Given the description of an element on the screen output the (x, y) to click on. 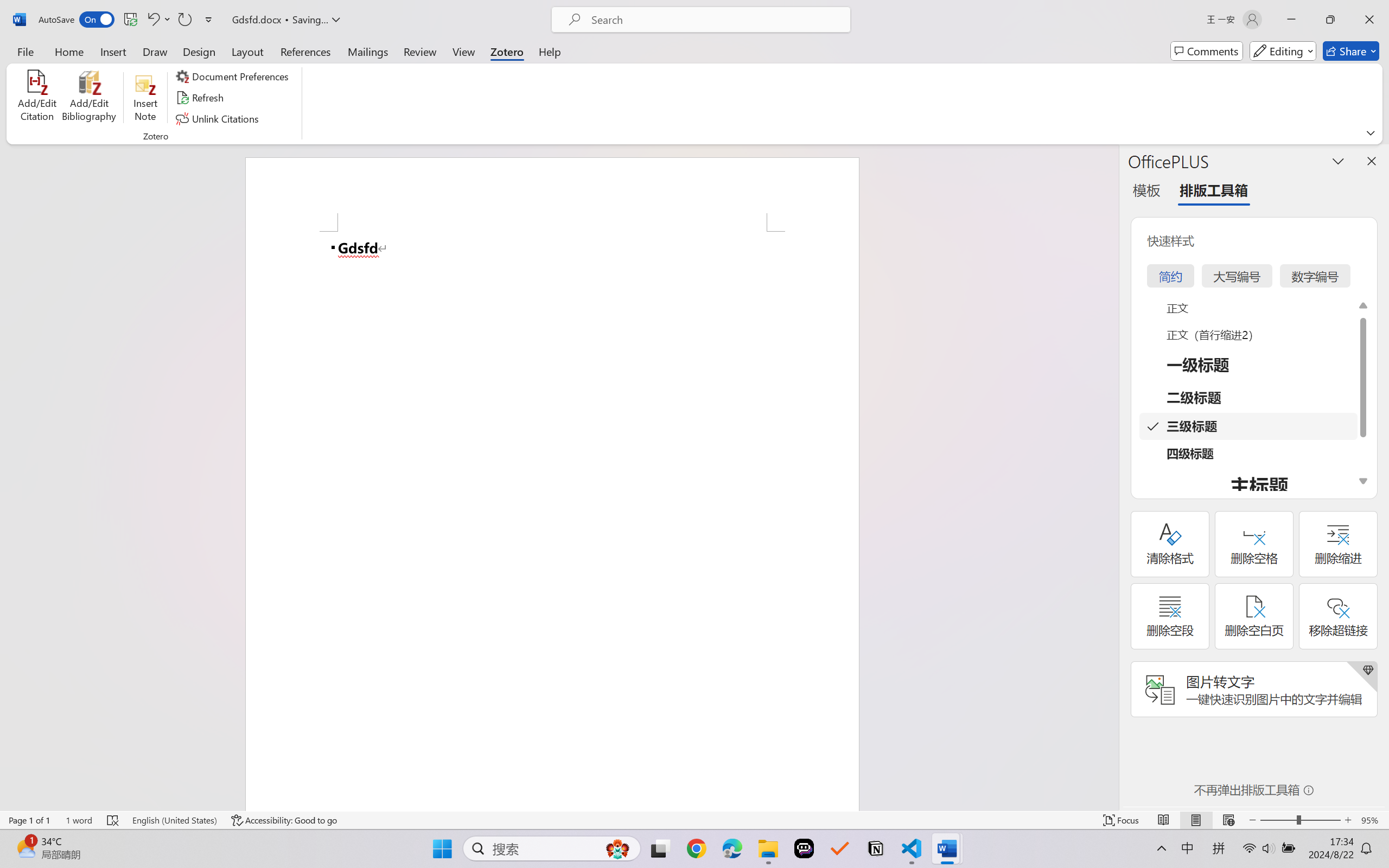
Add/Edit Citation (37, 97)
